Given the description of an element on the screen output the (x, y) to click on. 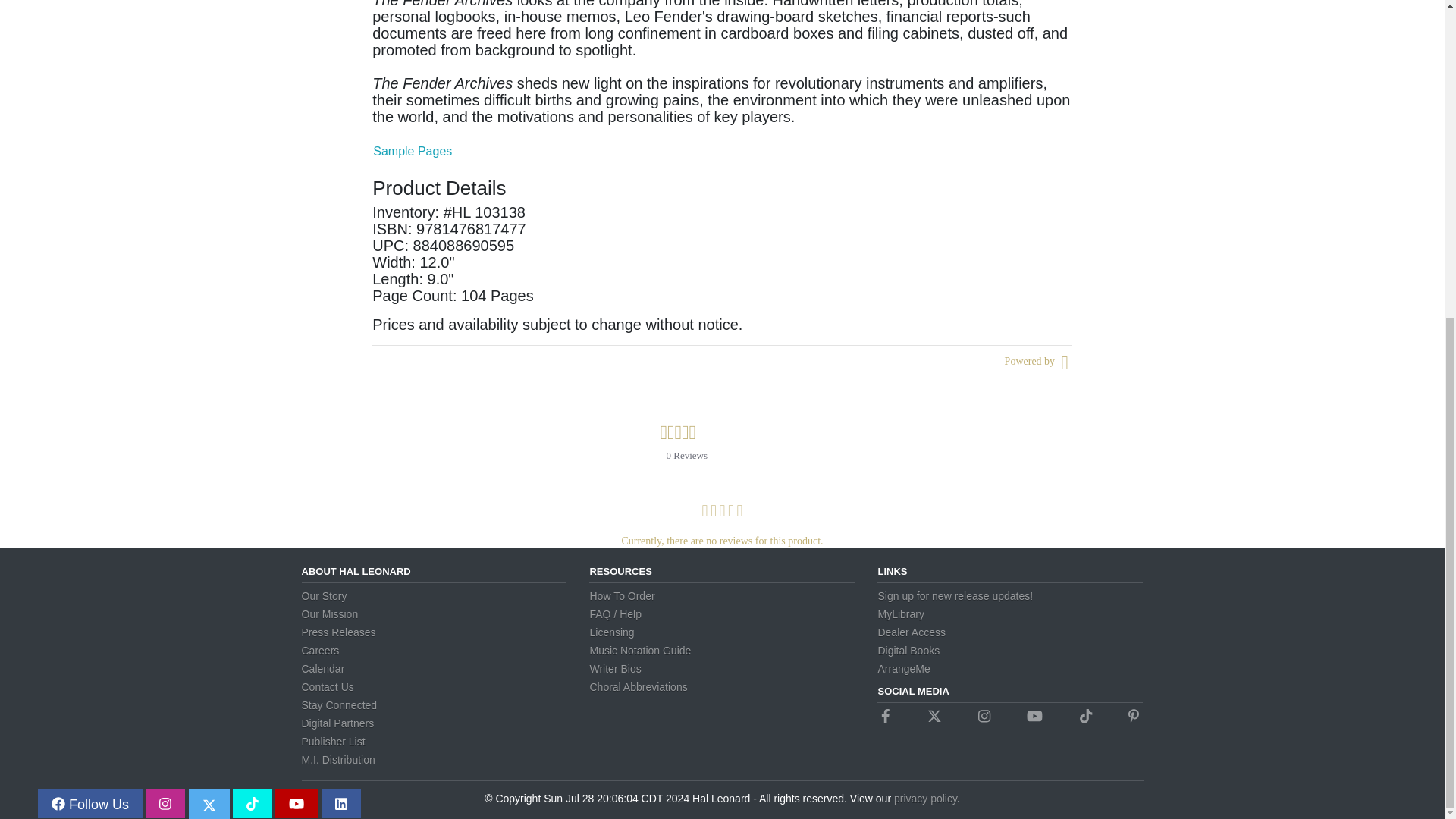
Twitter (933, 716)
Facebook (885, 716)
